Given the description of an element on the screen output the (x, y) to click on. 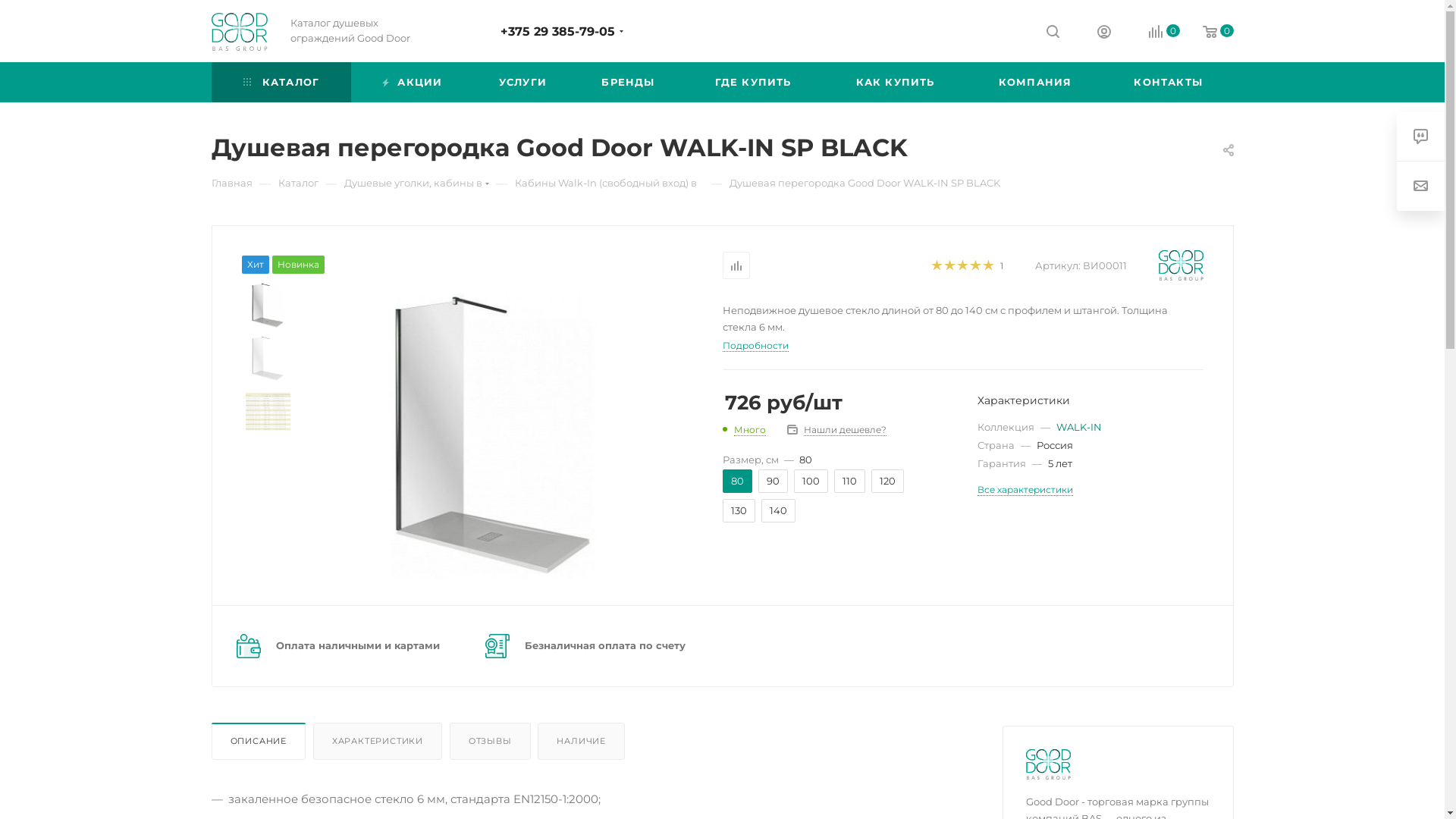
0 Element type: text (1206, 31)
0 Element type: text (1152, 31)
Good Door Element type: hover (1047, 764)
+375 29 385-79-05 Element type: text (557, 31)
WALK-IN Element type: text (1078, 426)
Good Door Element type: hover (1180, 265)
